Given the description of an element on the screen output the (x, y) to click on. 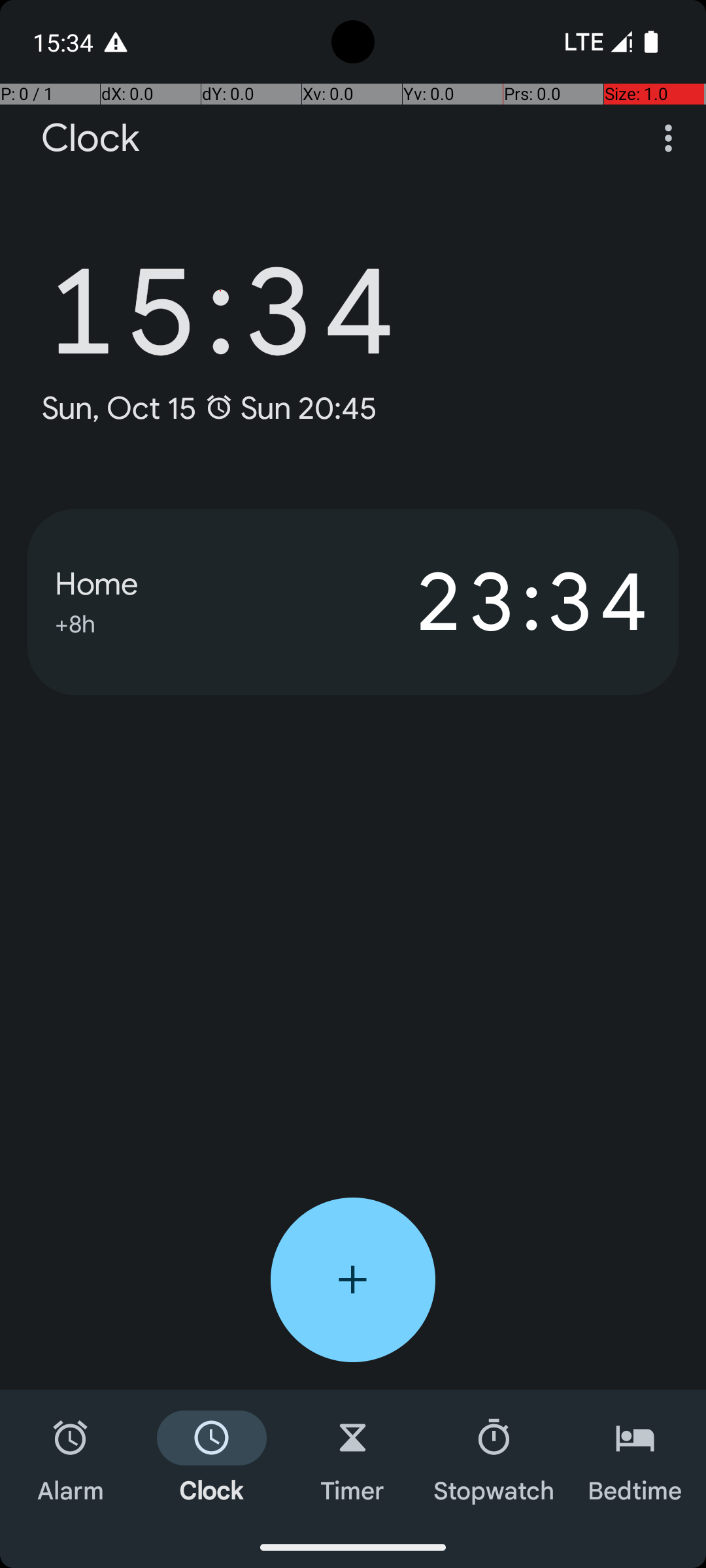
Add city Element type: android.widget.Button (352, 1279)
Sun, Oct 15 A Sun 20:45 Element type: android.widget.TextView (208, 407)
+8h Element type: android.widget.TextView (74, 621)
23:34 Element type: android.widget.TextView (502, 601)
